Given the description of an element on the screen output the (x, y) to click on. 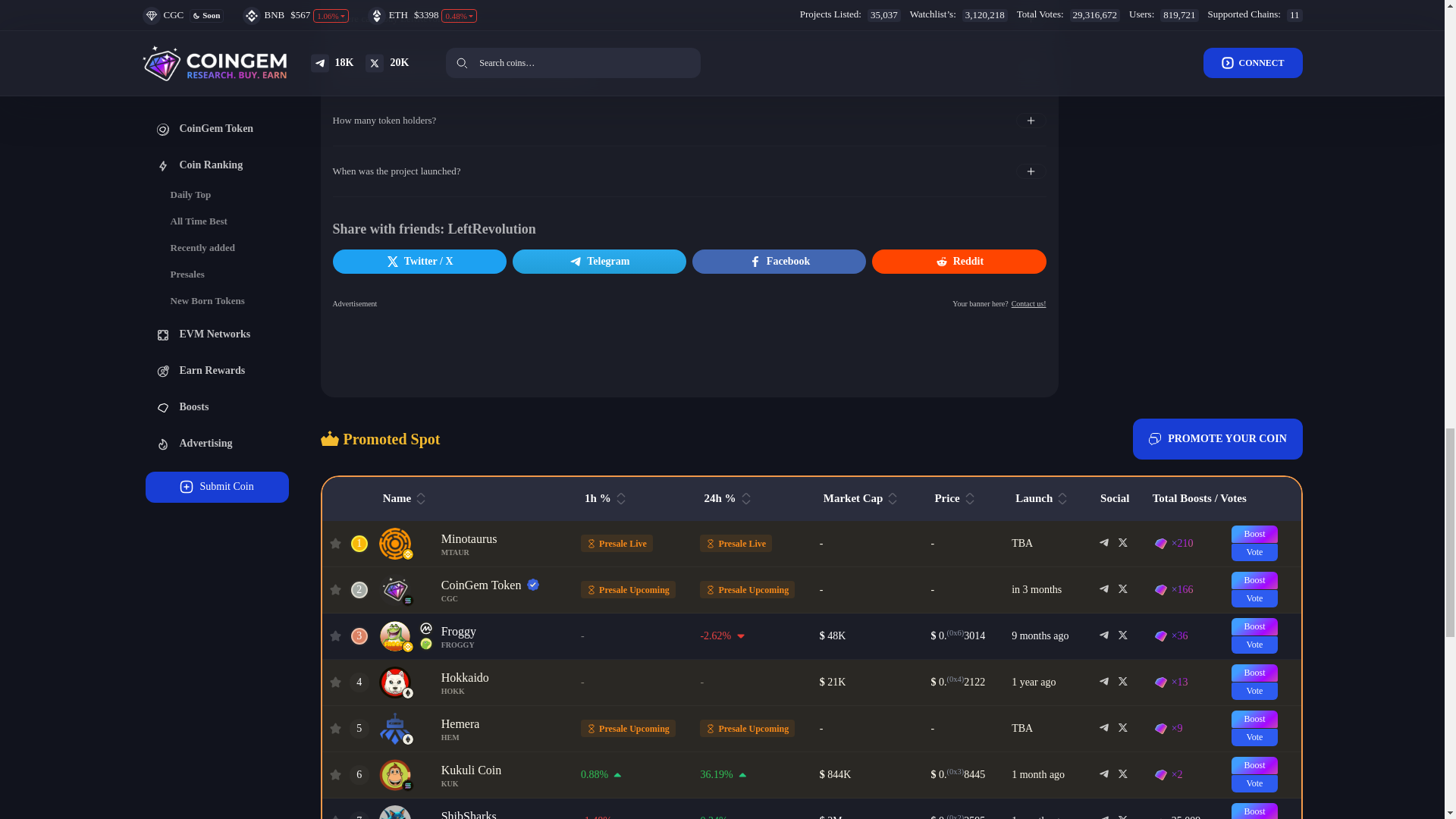
Reddit (958, 261)
Facebook (779, 261)
Telegram (598, 261)
PROMOTE YOUR COIN (1217, 438)
